Given the description of an element on the screen output the (x, y) to click on. 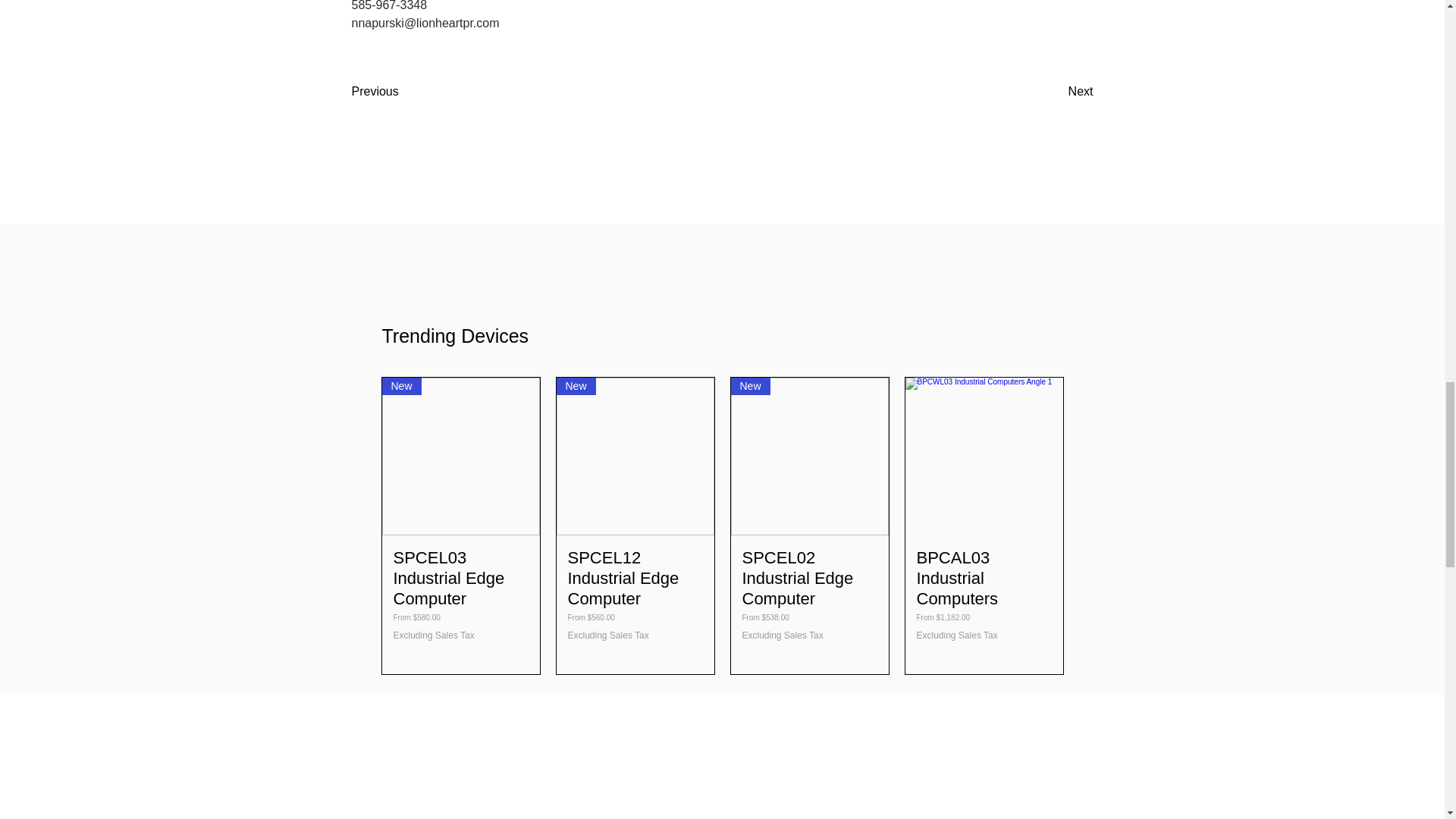
New (460, 456)
Next (1055, 91)
Previous (401, 91)
New (809, 456)
New (635, 456)
